Given the description of an element on the screen output the (x, y) to click on. 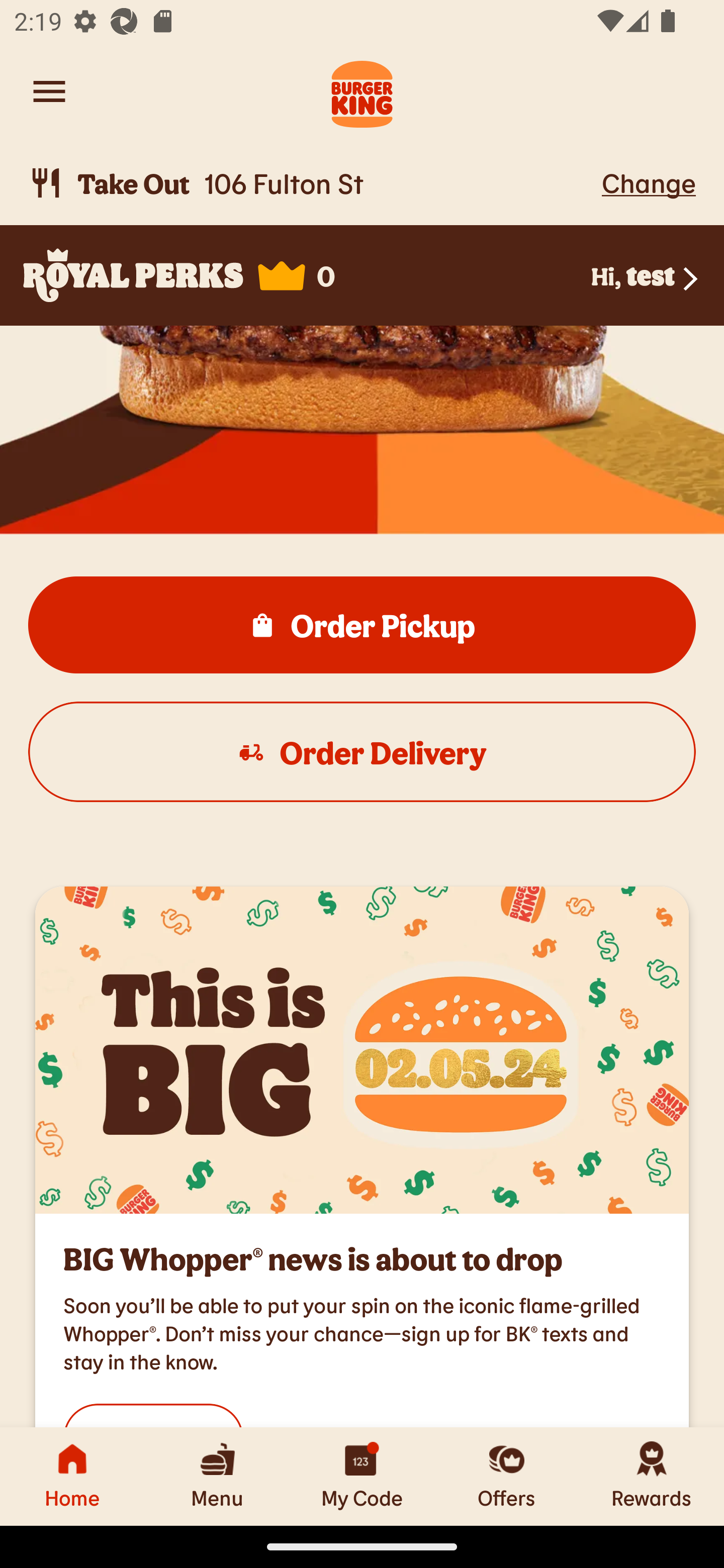
Burger King Logo. Navigate to Home (362, 91)
Navigate to account menu  (49, 91)
Take Out, 106 Fulton St  Take Out 106 Fulton St (311, 183)
Change (648, 182)
, Order Pickup  Order Pickup (361, 624)
, Order Delivery  Order Delivery (361, 751)
MDW Teaser Auth App (361, 1049)
Home (72, 1475)
Menu (216, 1475)
My Code (361, 1475)
Offers (506, 1475)
Rewards (651, 1475)
